Given the description of an element on the screen output the (x, y) to click on. 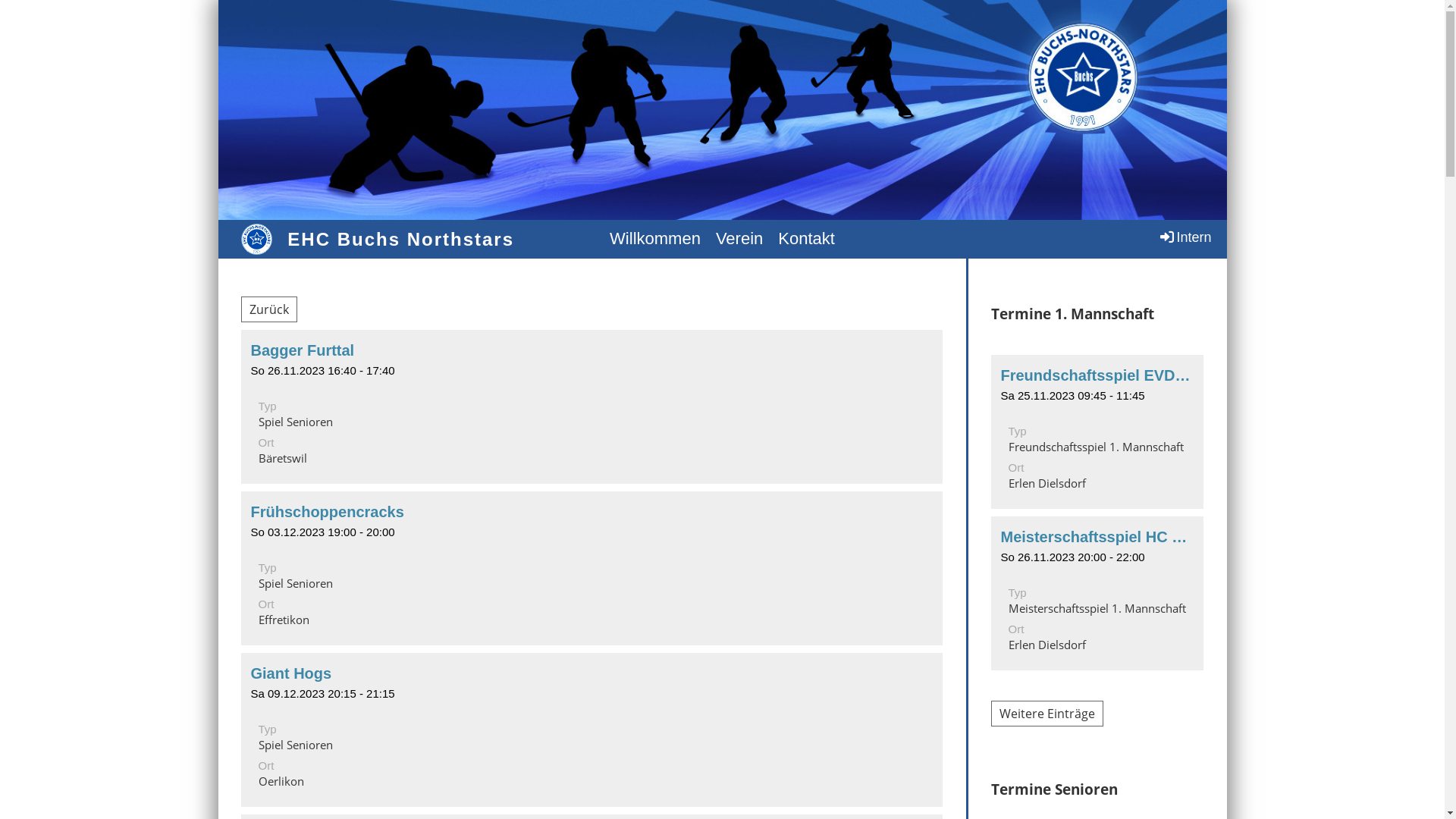
Kontakt Element type: text (806, 238)
EHC Buchs Northstars Element type: text (400, 239)
Willkommen Element type: text (655, 238)
Intern Element type: text (1184, 237)
Verein Element type: text (739, 238)
